Given the description of an element on the screen output the (x, y) to click on. 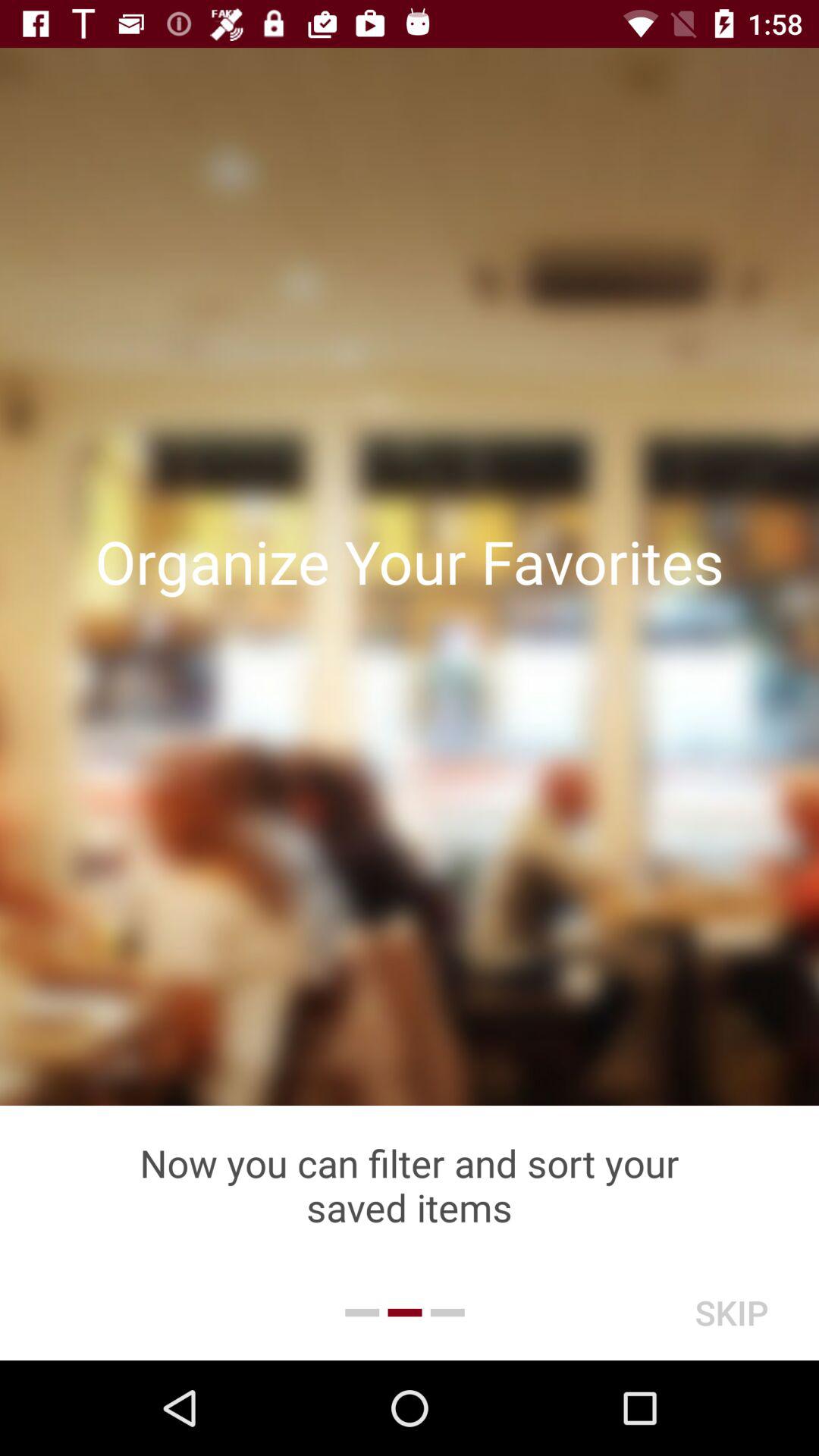
tap the icon above skip (409, 1184)
